Given the description of an element on the screen output the (x, y) to click on. 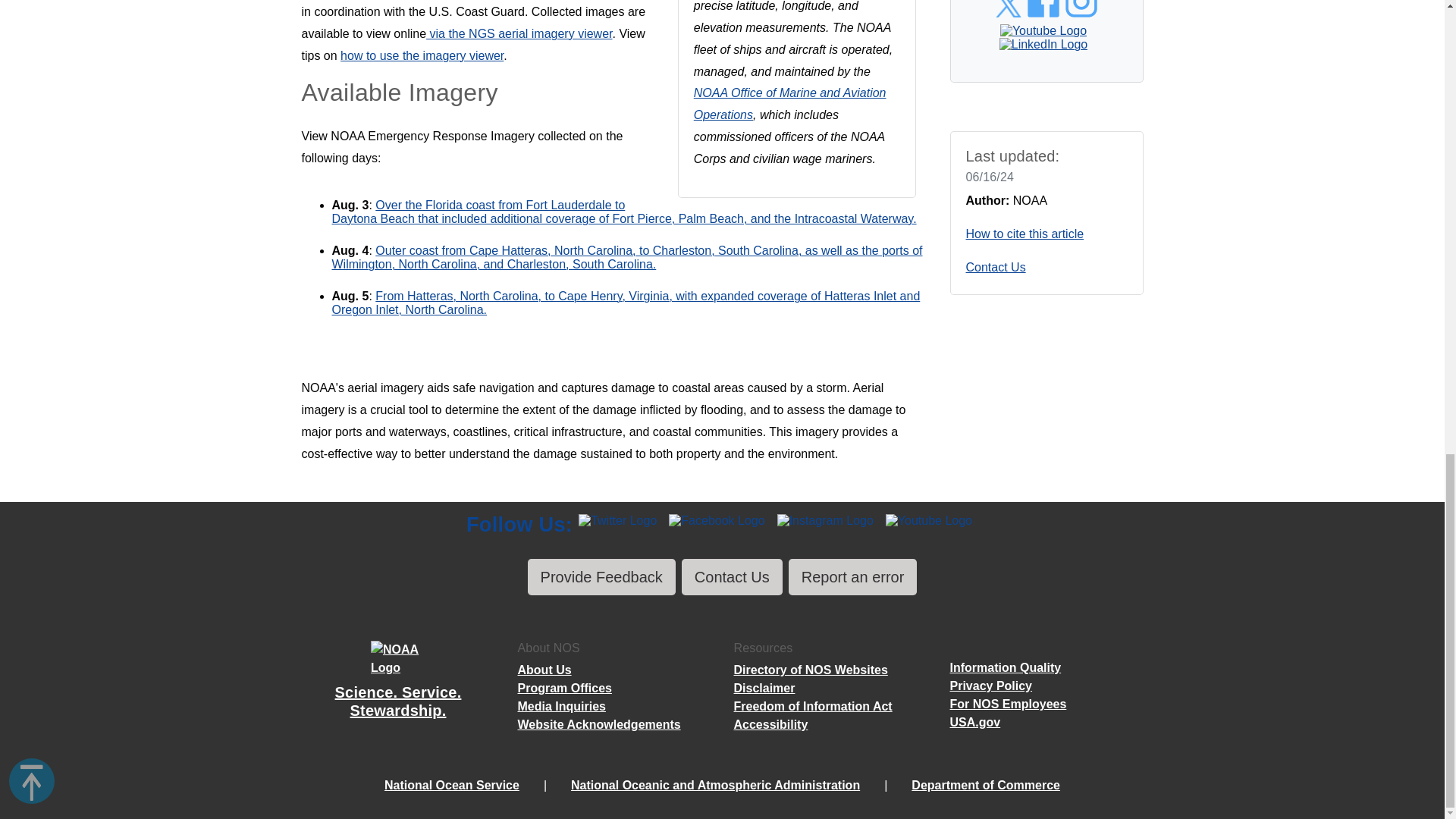
NOAA Office of Marine and Aviation Operations (790, 103)
how to use the imagery viewer (421, 55)
via the NGS aerial imagery viewer (518, 33)
